Given the description of an element on the screen output the (x, y) to click on. 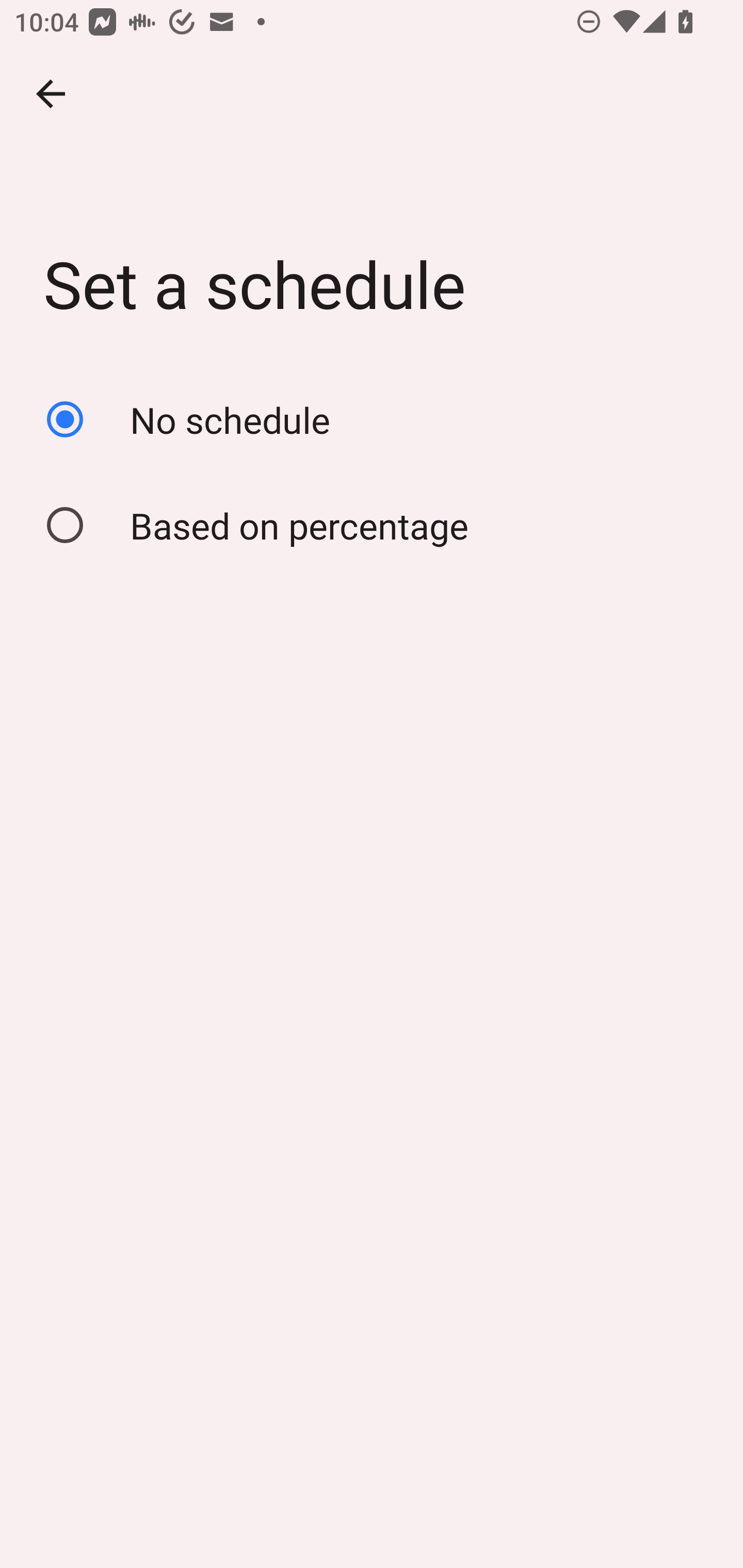
Navigate up (50, 93)
No schedule (371, 418)
Based on percentage (371, 524)
